Given the description of an element on the screen output the (x, y) to click on. 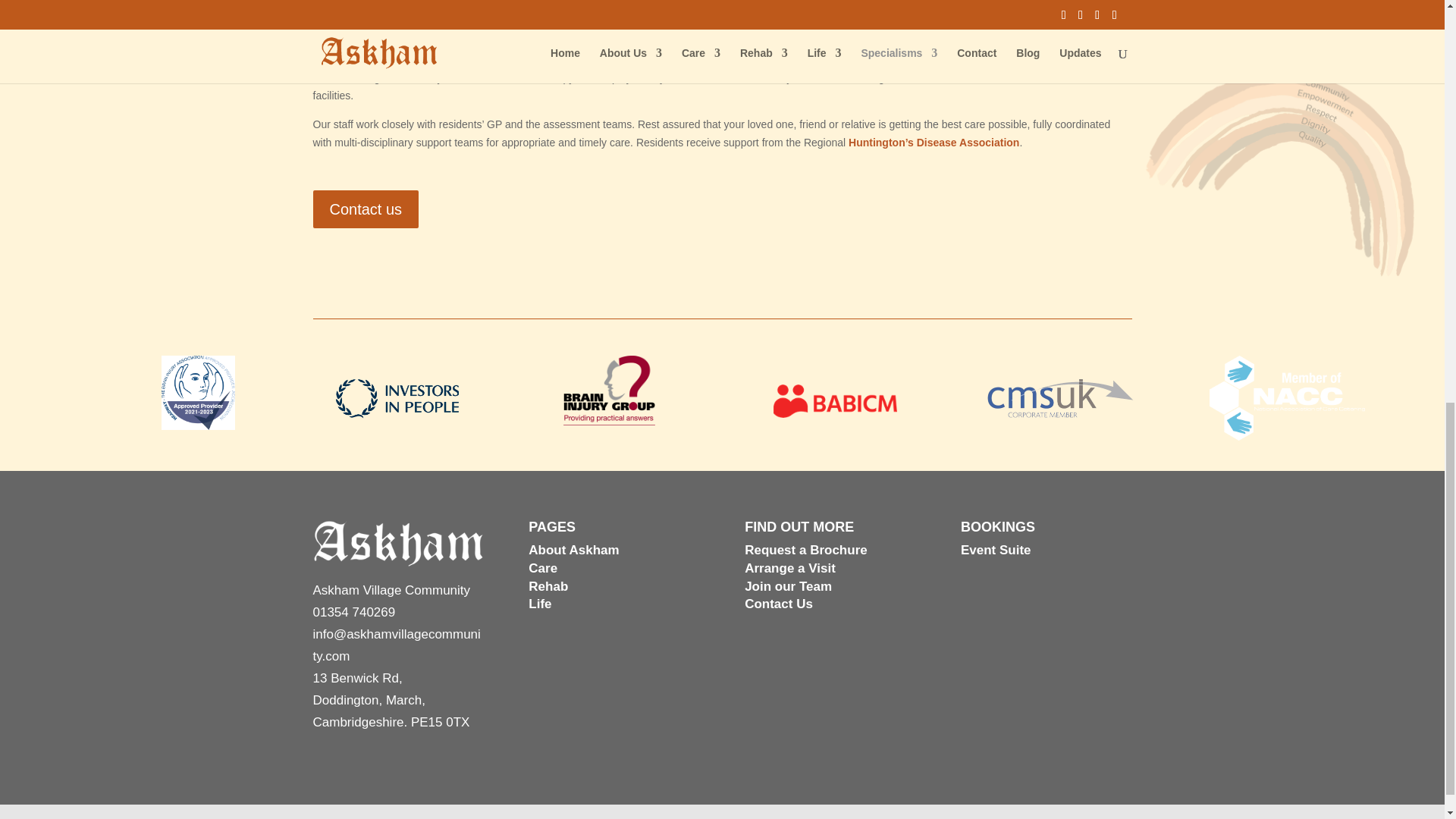
BABICM (835, 401)
Contact us (366, 209)
logo (397, 398)
Approved Partner RGB for web (197, 392)
logo-brain-injury-group1 (609, 390)
CMSUK (1061, 398)
